Given the description of an element on the screen output the (x, y) to click on. 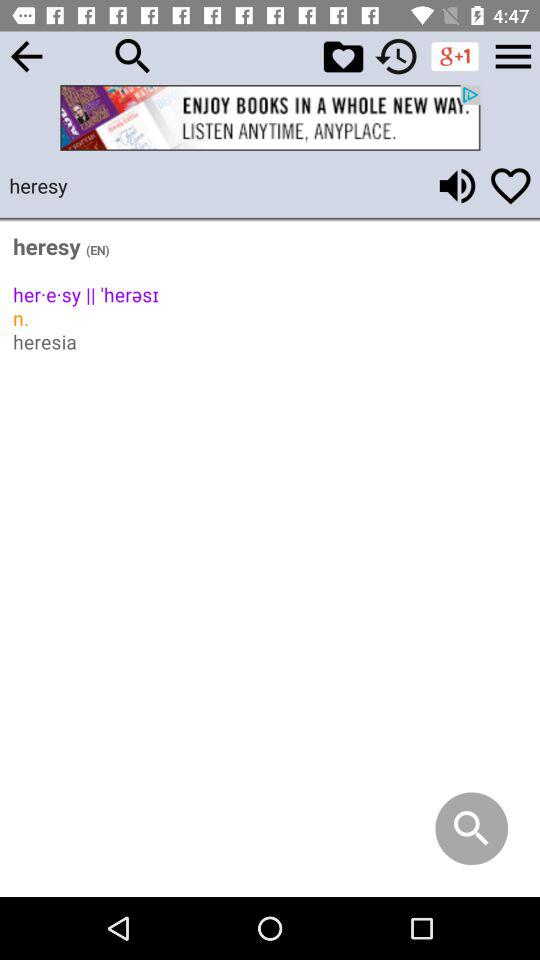
favorite the word (510, 185)
